Given the description of an element on the screen output the (x, y) to click on. 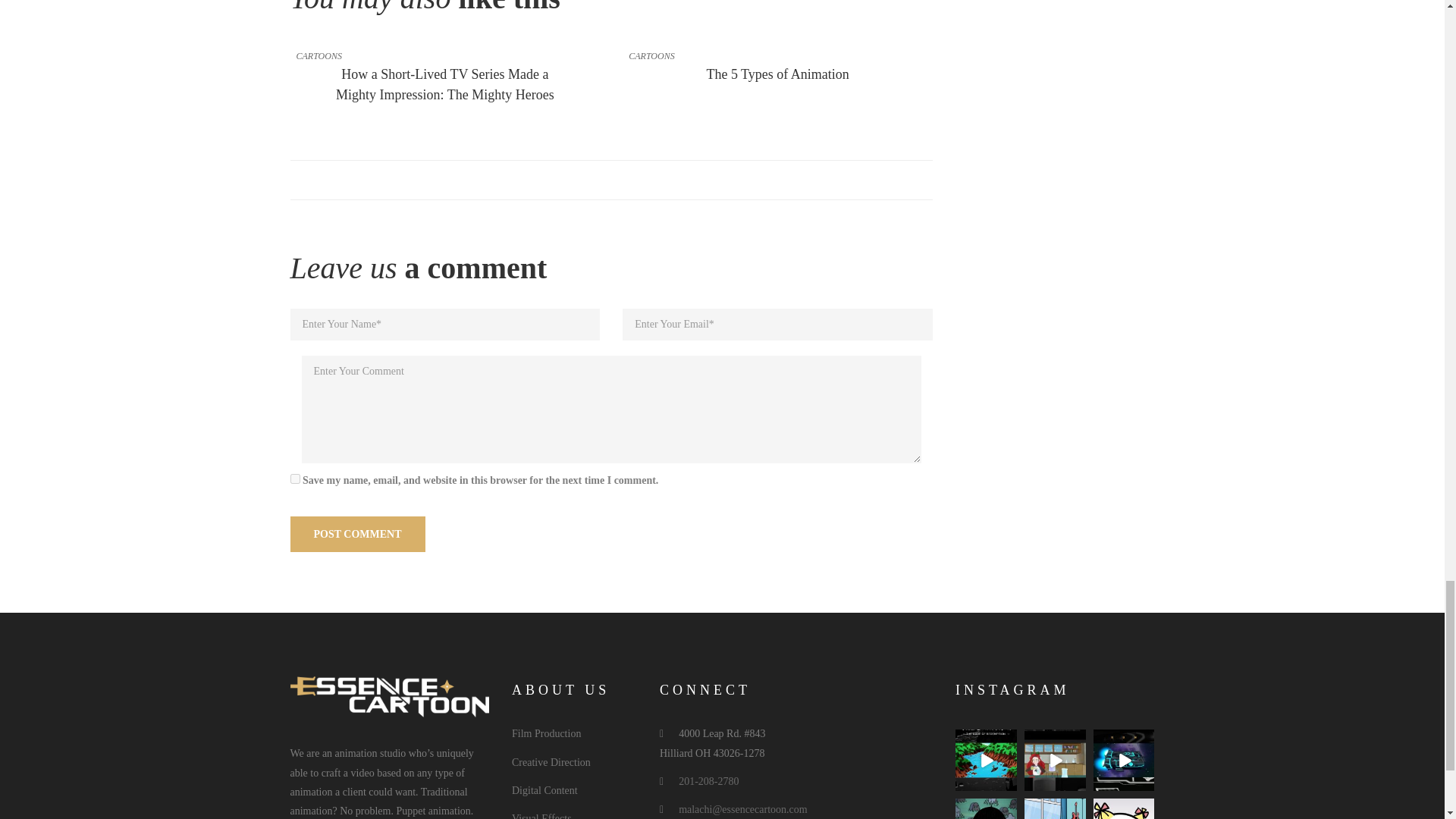
yes (294, 479)
Post Comment (357, 534)
